Given the description of an element on the screen output the (x, y) to click on. 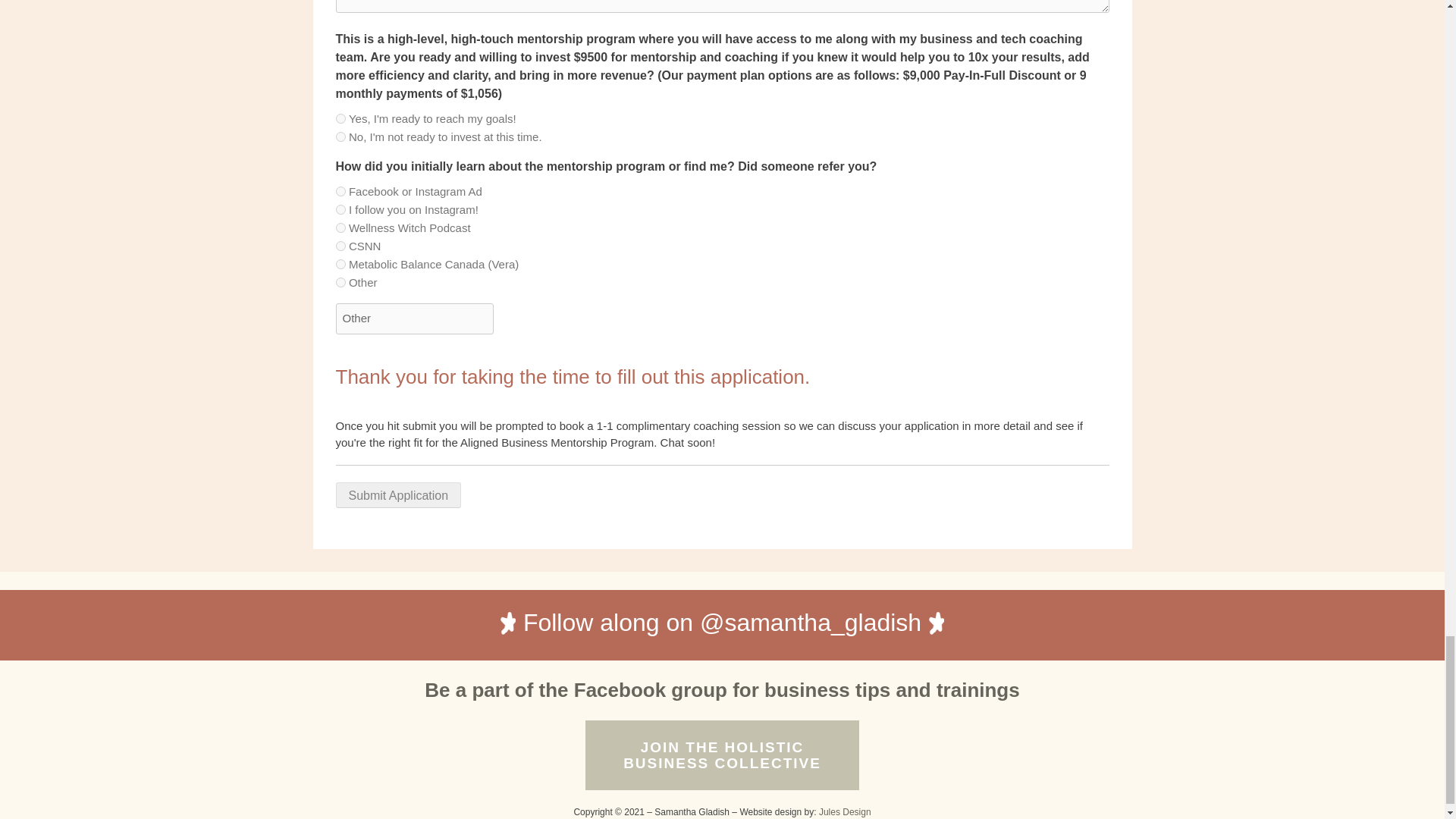
Wellness Witch Podcast (339, 227)
No, I'm not ready to invest at this time. (339, 136)
Other (413, 318)
Submit Application (722, 761)
Submit Application (397, 494)
Jules Design (722, 755)
CSNN (397, 494)
Yes, I'm ready to reach my goals! (844, 811)
I follow you on Instagram! (339, 245)
Facebook or Instagram Ad (339, 118)
